Given the description of an element on the screen output the (x, y) to click on. 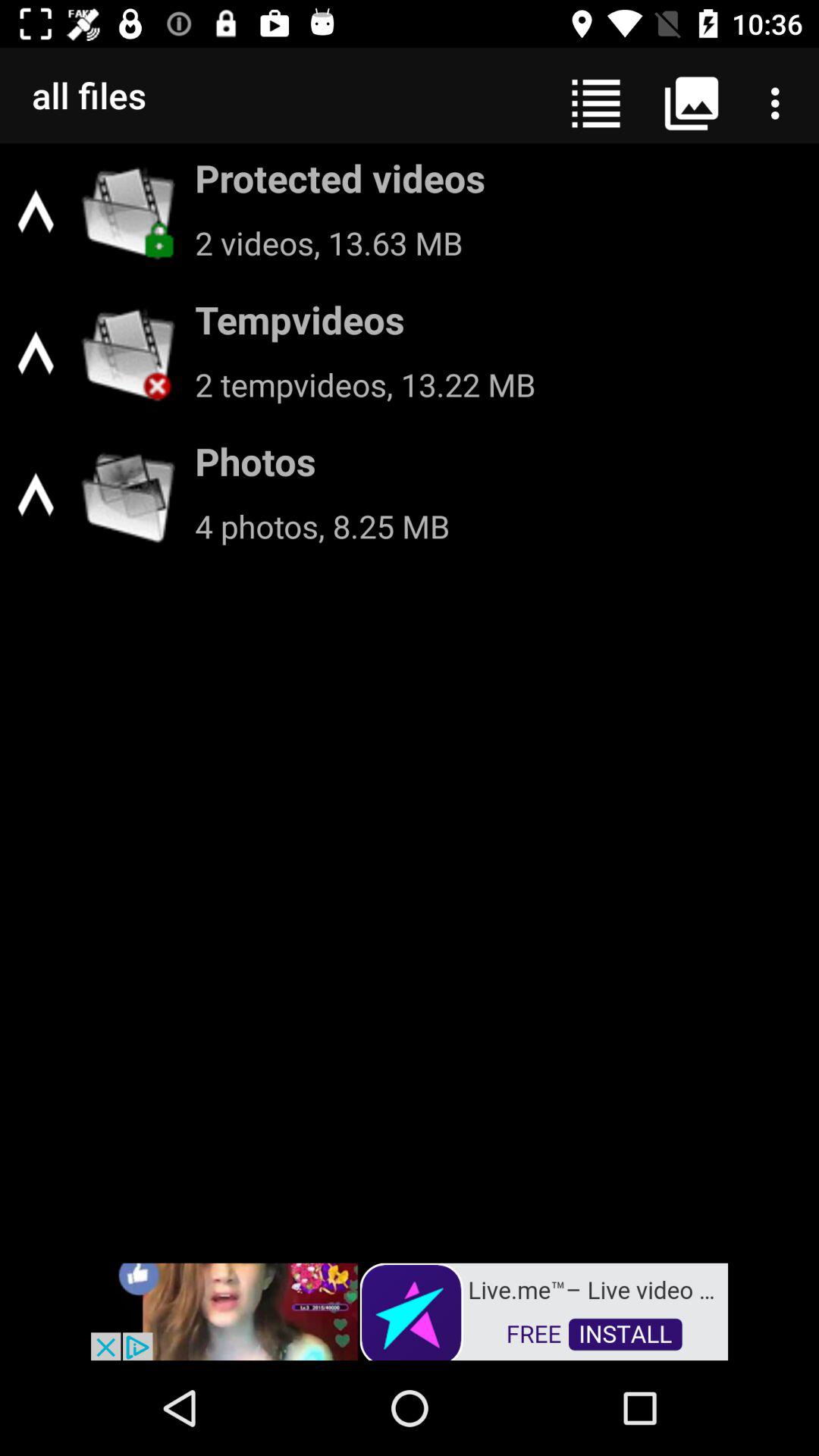
clickable advertisement (409, 1310)
